Given the description of an element on the screen output the (x, y) to click on. 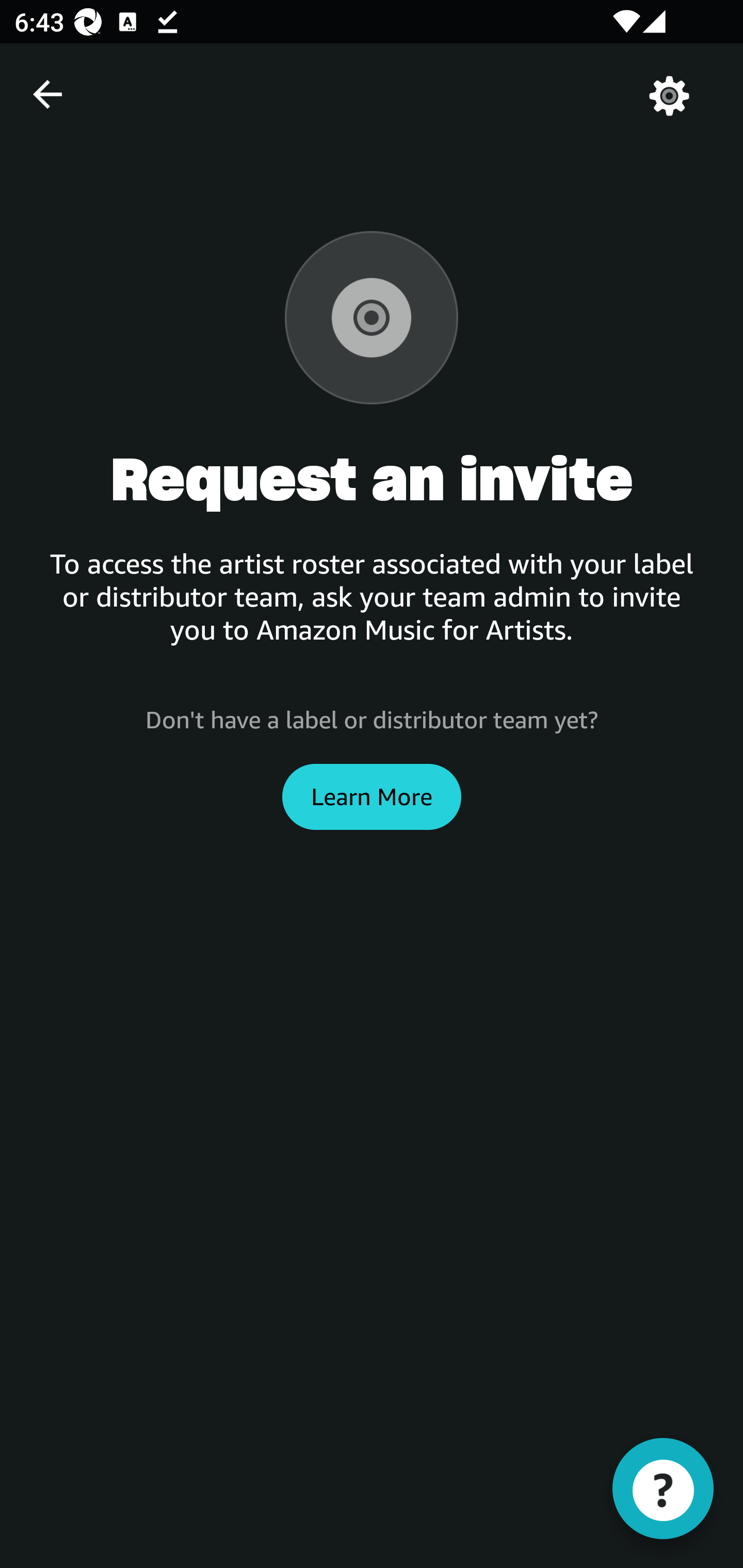
Learn more button Learn More (371, 796)
